Given the description of an element on the screen output the (x, y) to click on. 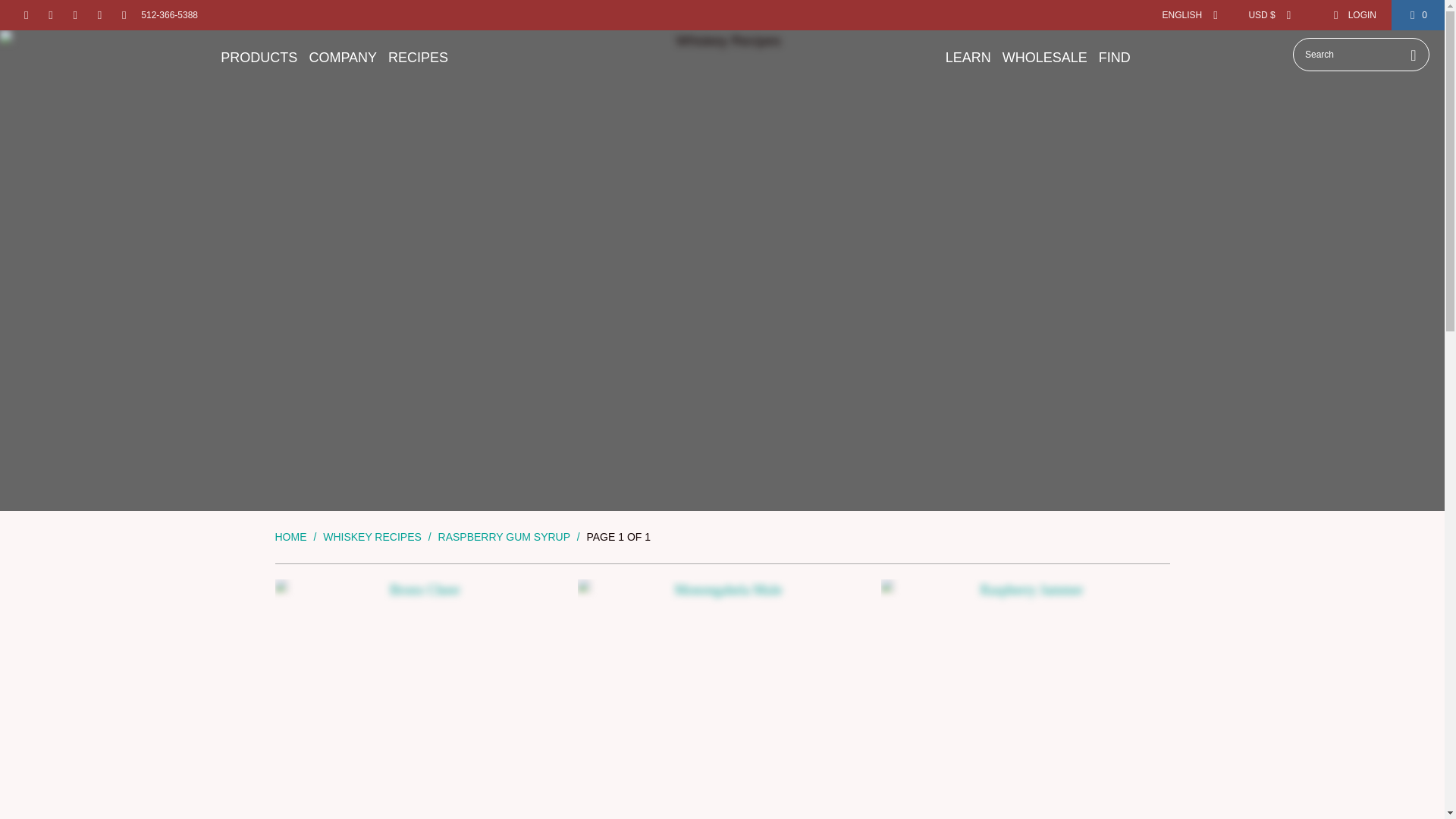
PRODUCTS (259, 57)
raspberry gum syrup (504, 536)
ENGLISH (1185, 15)
RECIPES (418, 57)
My Account  (1353, 15)
COMPANY (342, 57)
LOGIN (1353, 15)
512-366-5388 (169, 15)
Whiskey Recipes (372, 536)
